Given the description of an element on the screen output the (x, y) to click on. 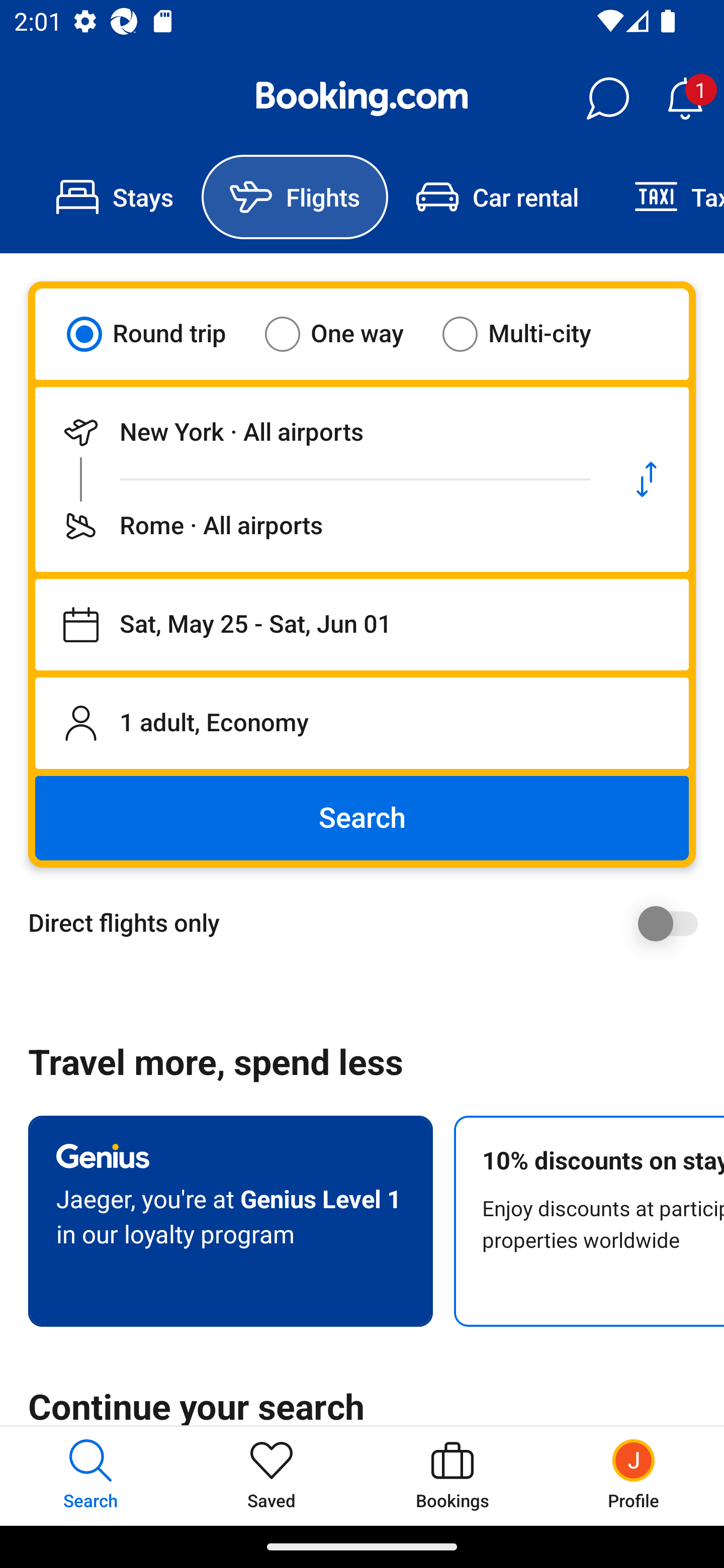
Messages (607, 98)
Notifications (685, 98)
Stays (114, 197)
Flights (294, 197)
Car rental (497, 197)
Taxi (665, 197)
One way (346, 333)
Multi-city (528, 333)
Departing from New York · All airports (319, 432)
Swap departure location and destination (646, 479)
Flying to Rome · All airports (319, 525)
Departing on Sat, May 25, returning on Sat, Jun 01 (361, 624)
1 adult, Economy (361, 722)
Search (361, 818)
Direct flights only (369, 923)
Saved (271, 1475)
Bookings (452, 1475)
Profile (633, 1475)
